Given the description of an element on the screen output the (x, y) to click on. 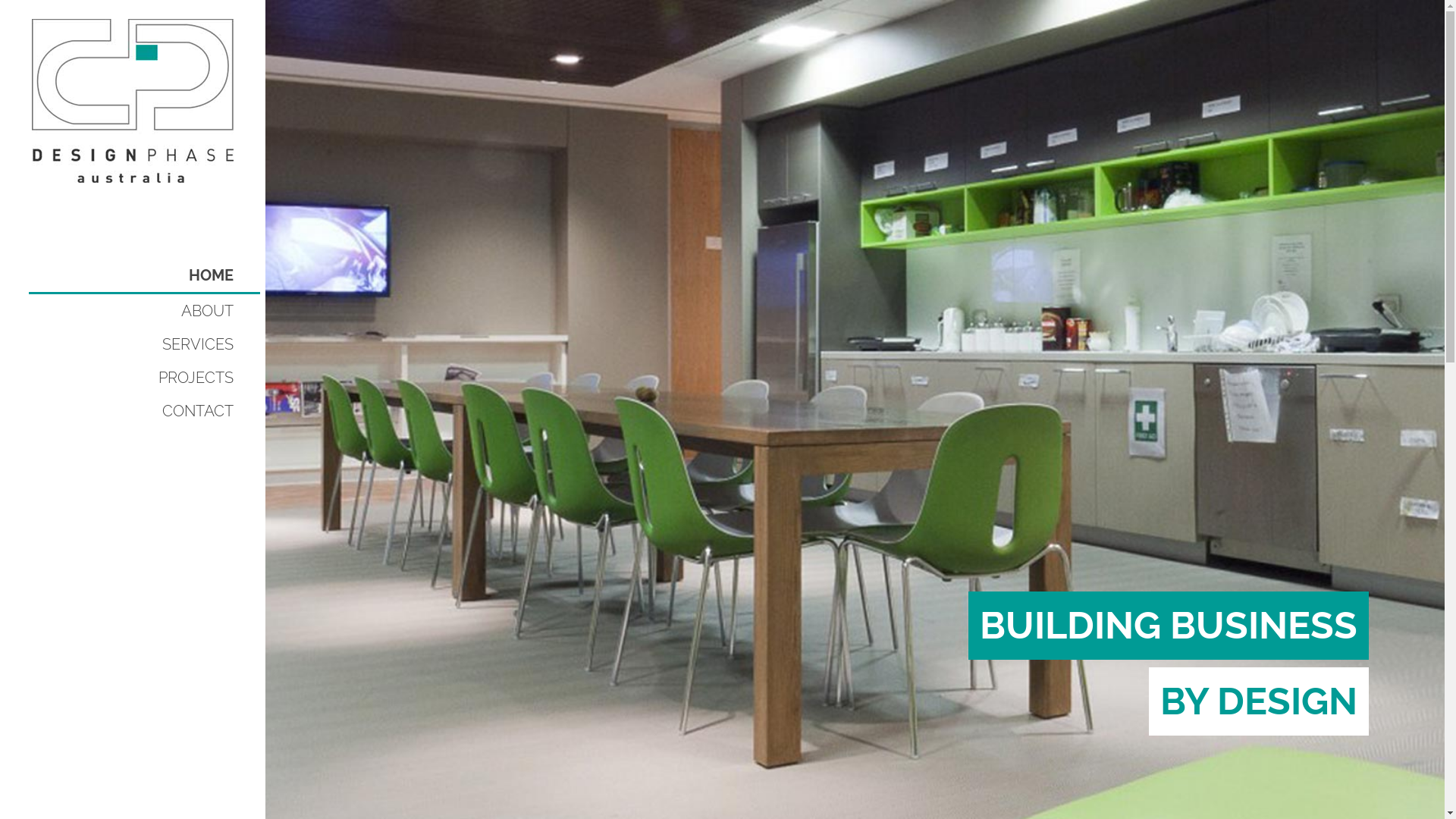
HOME Element type: text (144, 276)
SERVICES Element type: text (144, 343)
PROJECTS Element type: text (144, 377)
CONTACT Element type: text (144, 410)
ABOUT Element type: text (144, 310)
